Given the description of an element on the screen output the (x, y) to click on. 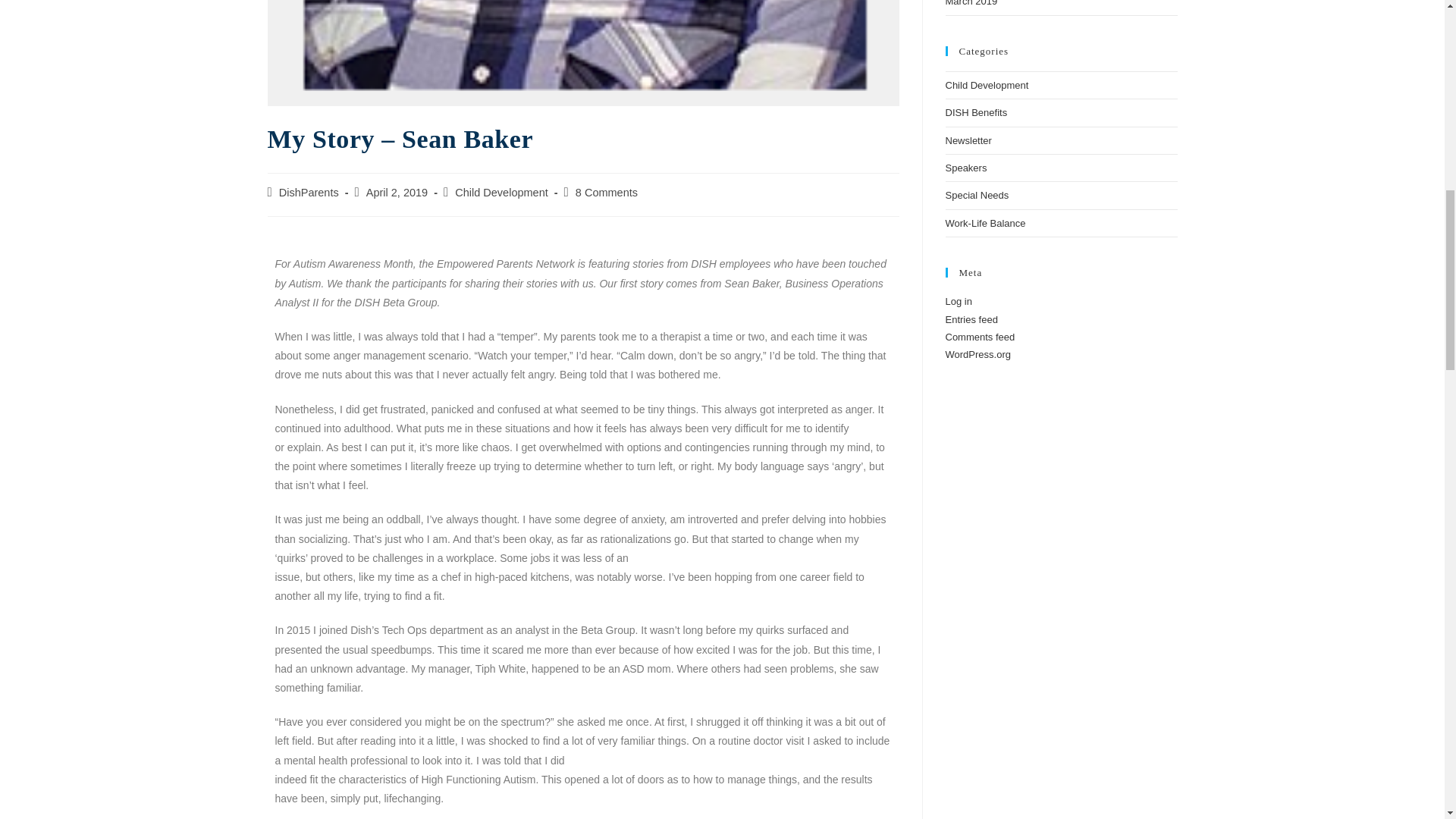
Child Development (501, 192)
DishParents (309, 192)
Posts by DishParents (309, 192)
8 Comments (606, 192)
